Given the description of an element on the screen output the (x, y) to click on. 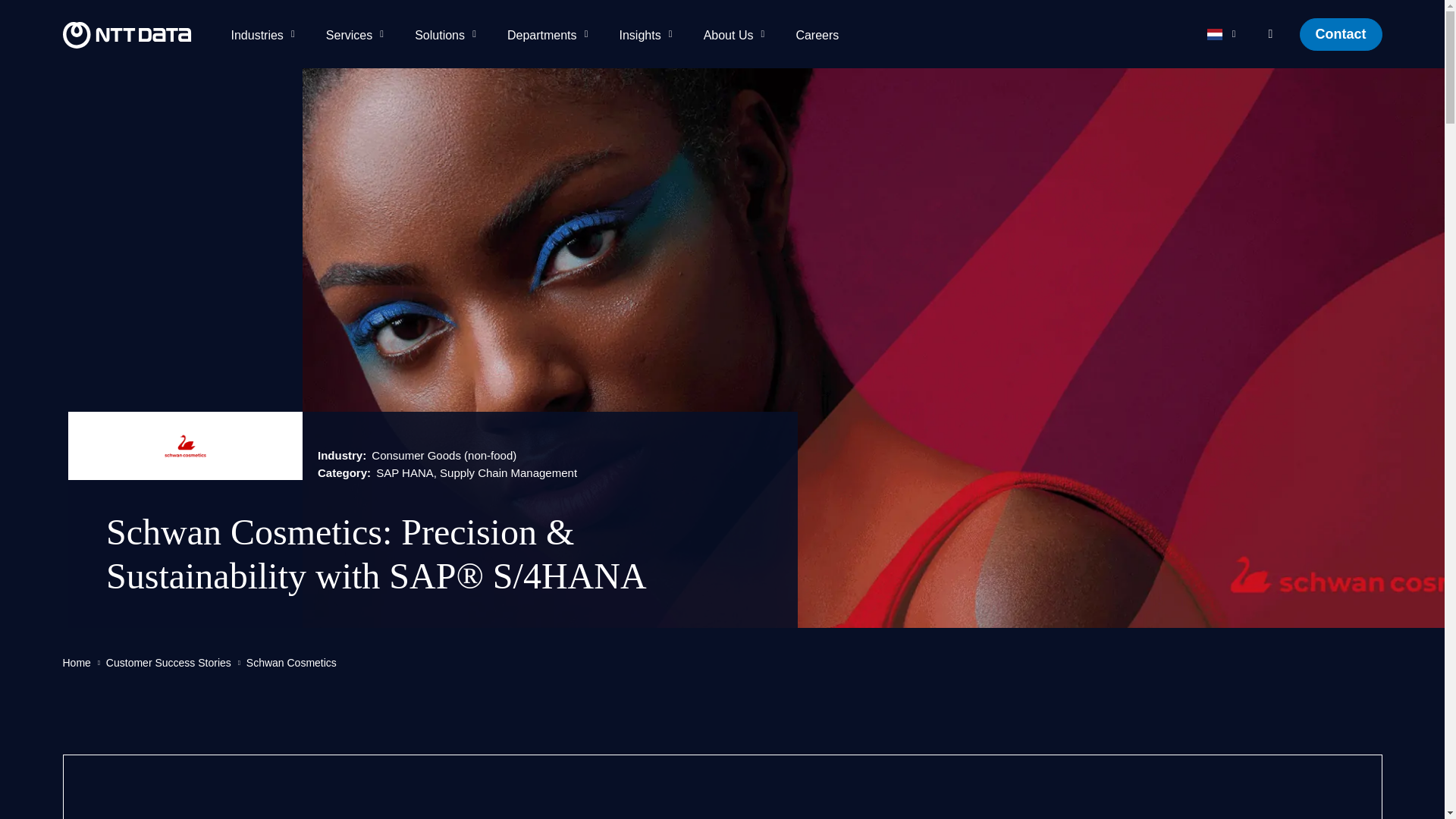
Industries (266, 33)
Insights (649, 33)
Services (357, 33)
Solutions (448, 33)
Departments (550, 33)
